Given the description of an element on the screen output the (x, y) to click on. 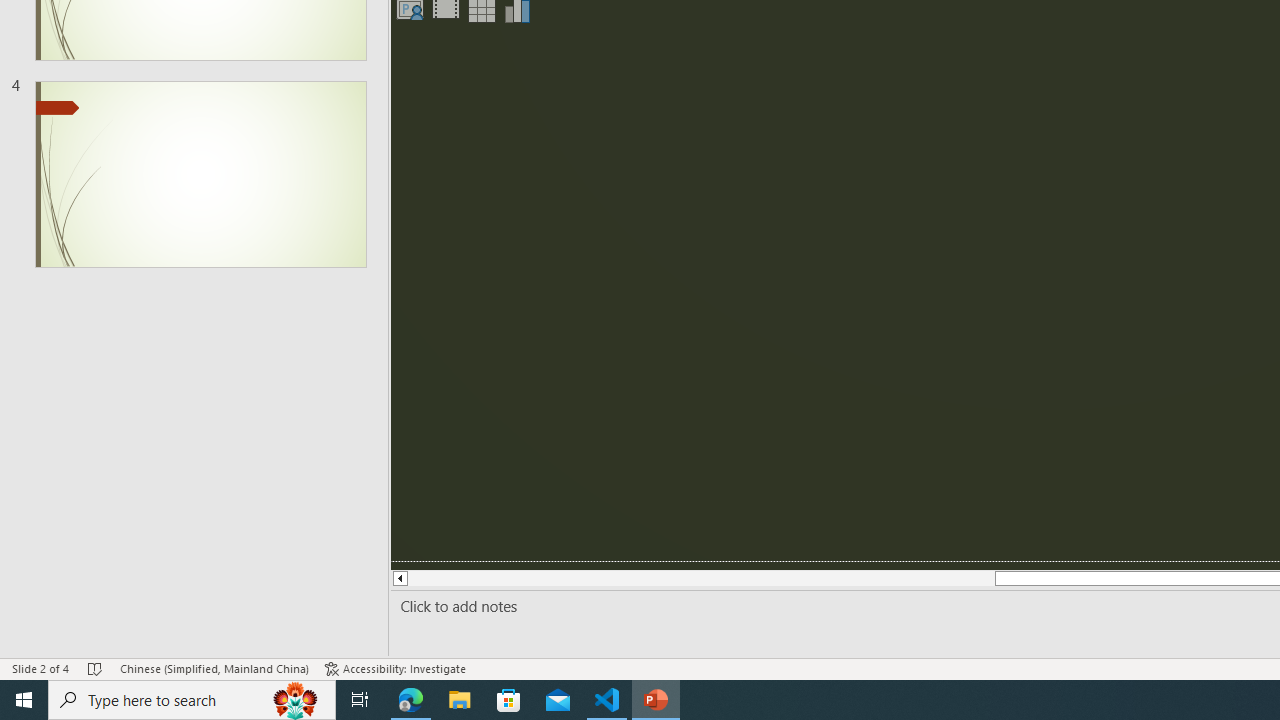
Accessibility Checker Accessibility: Investigate (395, 668)
Slide (200, 174)
